Given the description of an element on the screen output the (x, y) to click on. 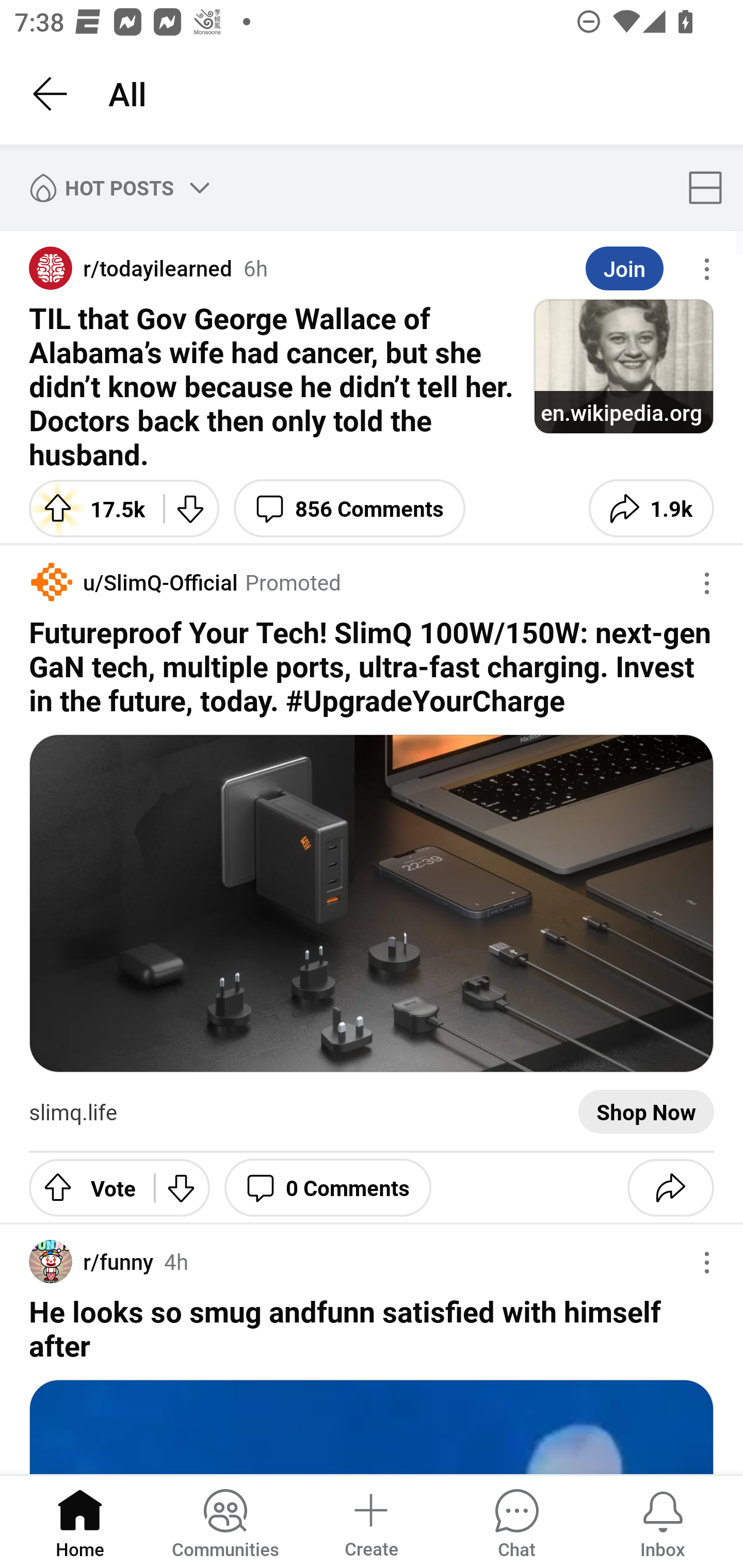
HOT POSTS Sort by Hot posts (115, 187)
Card display (711, 187)
Avatar r/todayilearned (130, 267)
Join (624, 268)
Overflow menu (706, 268)
Thumbnail image en.wikipedia.org (623, 365)
Upvote 17.5k (88, 507)
Downvote (191, 507)
856 Comments (349, 507)
Share 1.9k (651, 507)
Avatar (50, 581)
u/SlimQ-Official (154, 582)
Overflow menu (706, 583)
Image (371, 902)
slimq.life (72, 1112)
Shop Now (646, 1112)
Upvote Vote (83, 1187)
Downvote (181, 1187)
0 Comments (327, 1187)
Share (670, 1187)
Avatar r/funny (90, 1262)
Overflow menu (706, 1263)
Home (80, 1520)
Communities (225, 1520)
Create a post Create (370, 1520)
Chat (516, 1520)
Inbox (662, 1520)
